Given the description of an element on the screen output the (x, y) to click on. 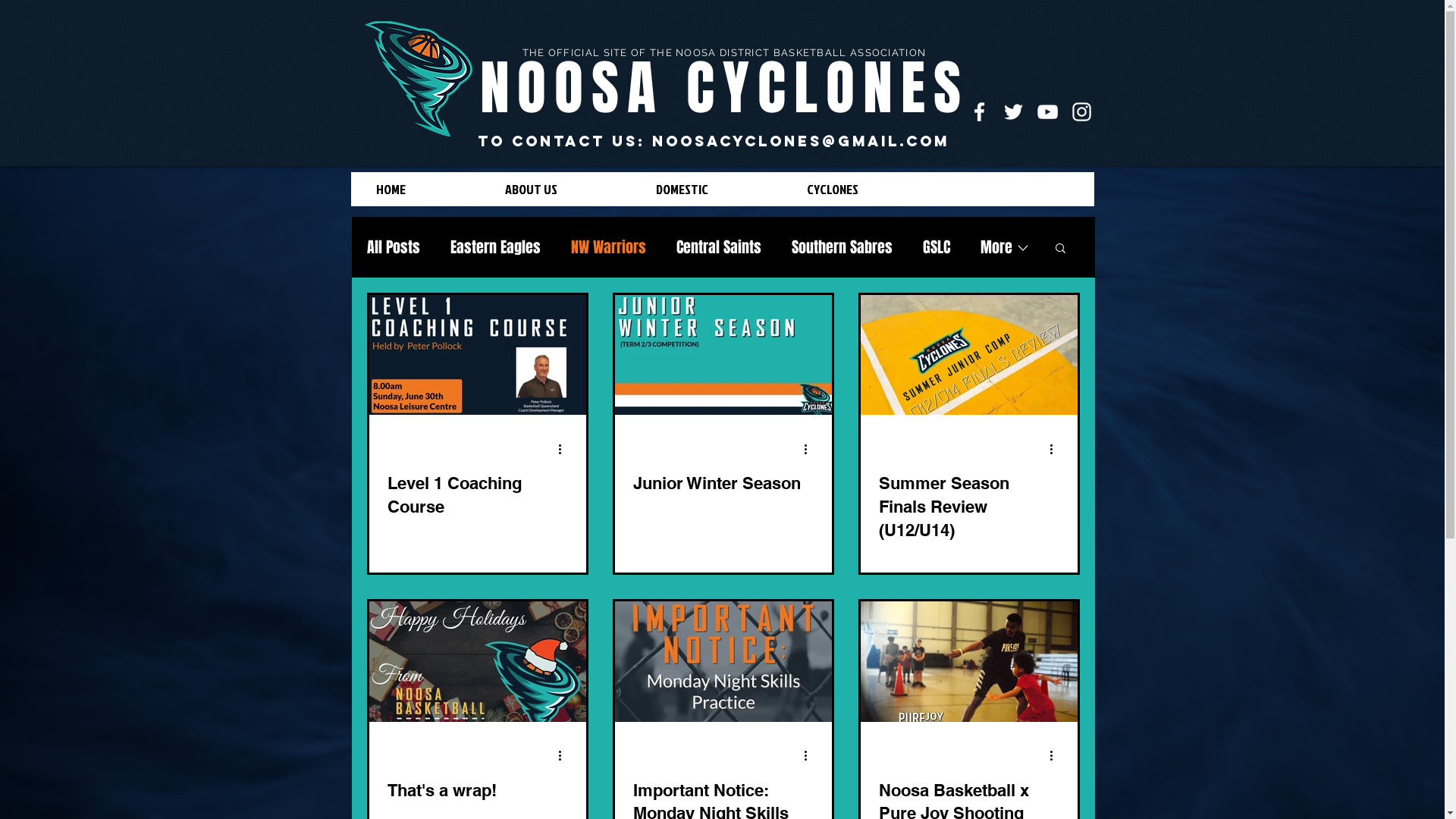
Noosacyclones@gmail.com Element type: text (800, 140)
Junior Winter Season Element type: text (722, 483)
HOME Element type: text (428, 188)
All Posts Element type: text (393, 246)
That's a wrap! Element type: text (476, 789)
Southern Sabres Element type: text (841, 246)
Level 1 Coaching Course Element type: text (476, 494)
Summer Season Finals Review (U12/U14) Element type: text (968, 506)
NW Warriors Element type: text (607, 246)
Eastern Eagles Element type: text (495, 246)
GSLC Element type: text (935, 246)
Central Saints Element type: text (718, 246)
